Given the description of an element on the screen output the (x, y) to click on. 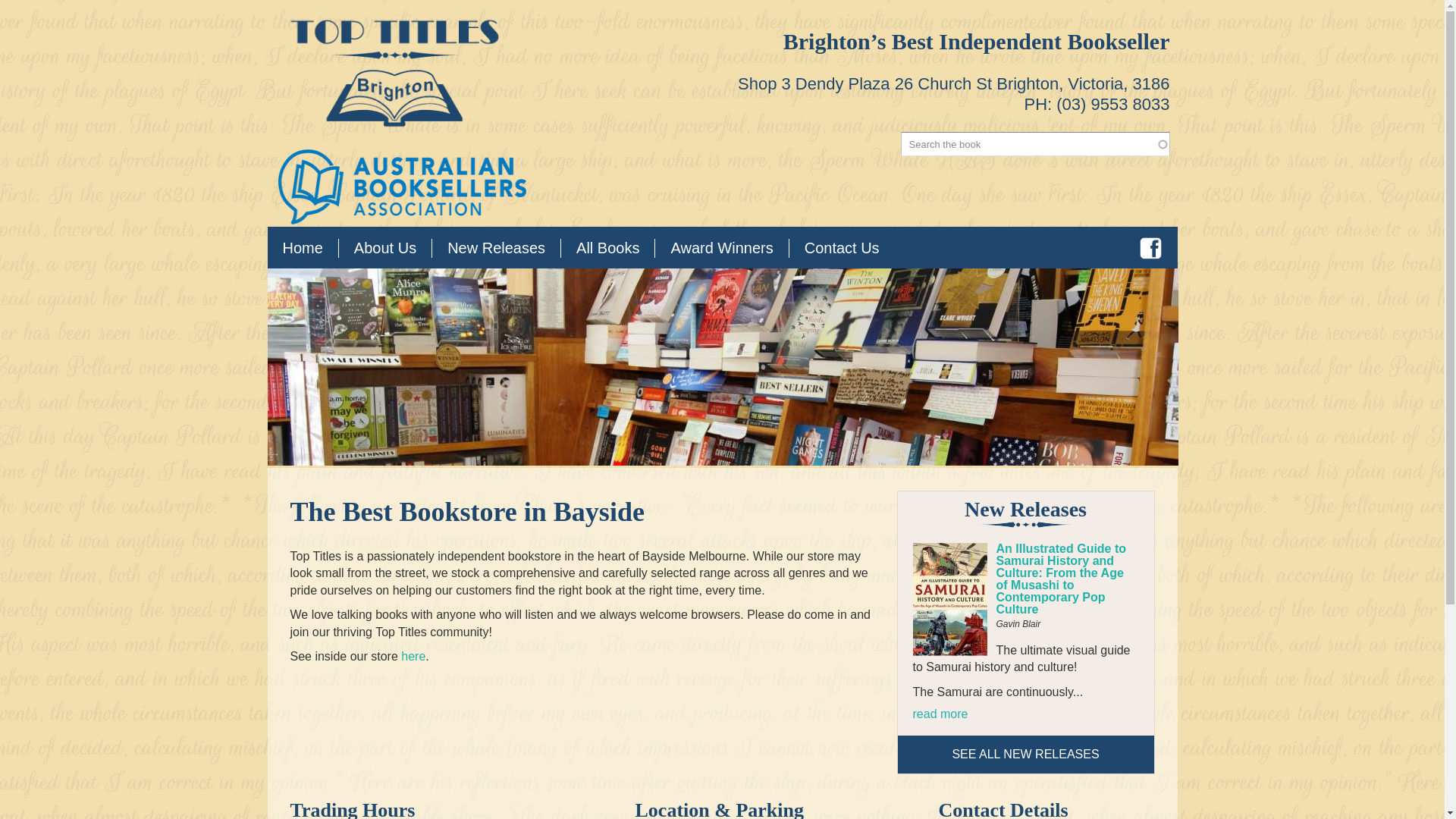
Enter the terms you wish to search for. (1035, 143)
New Releases (496, 248)
Skip to main content (685, 1)
Contact Us (842, 248)
read more (940, 713)
here (413, 656)
All Books (606, 248)
Award Winners (721, 248)
Home (301, 248)
SEE ALL NEW RELEASES (1025, 753)
